Given the description of an element on the screen output the (x, y) to click on. 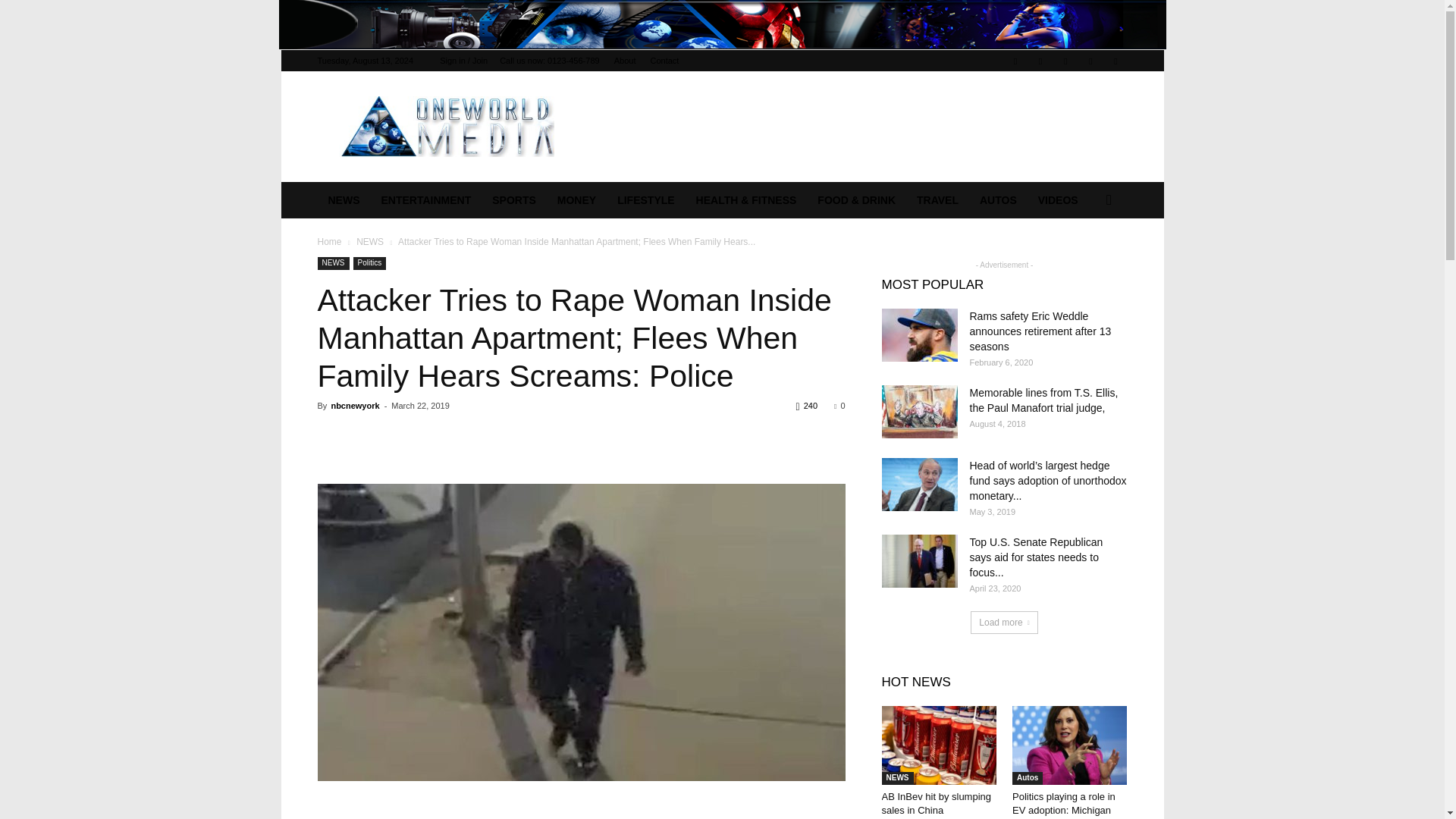
Call us now: 0123-456-789 (548, 60)
Youtube (1114, 60)
Contact (664, 60)
Facebook (1015, 60)
VKontakte (1090, 60)
View all posts in NEWS (370, 241)
Twitter (1040, 60)
About (625, 60)
Vimeo (1065, 60)
